Given the description of an element on the screen output the (x, y) to click on. 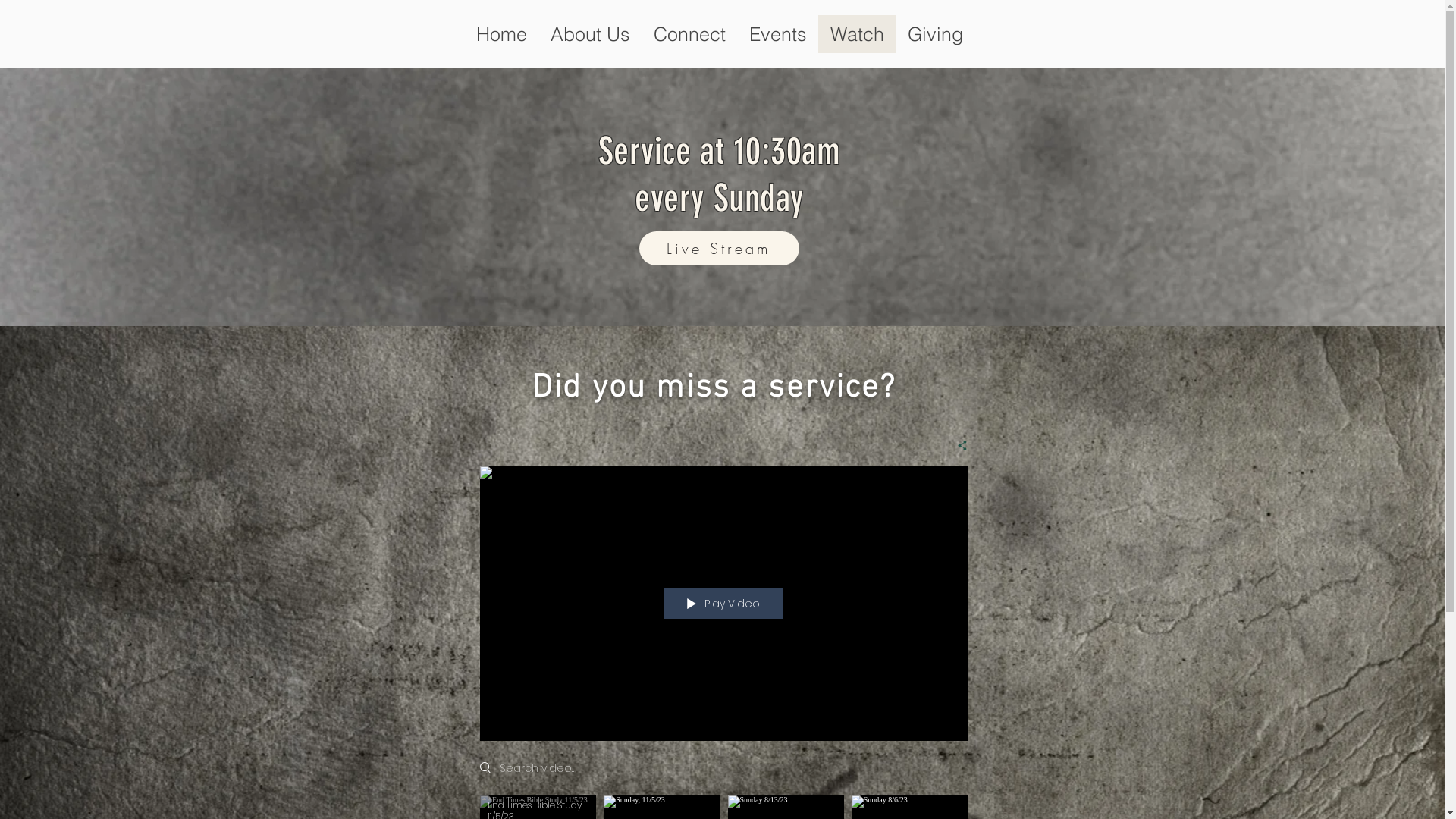
Giving Element type: text (934, 34)
Connect Element type: text (689, 34)
Watch Element type: text (856, 34)
Events Element type: text (777, 34)
Home Element type: text (501, 34)
Play Video Element type: text (723, 603)
Live Stream Element type: text (718, 248)
About Us Element type: text (589, 34)
